Given the description of an element on the screen output the (x, y) to click on. 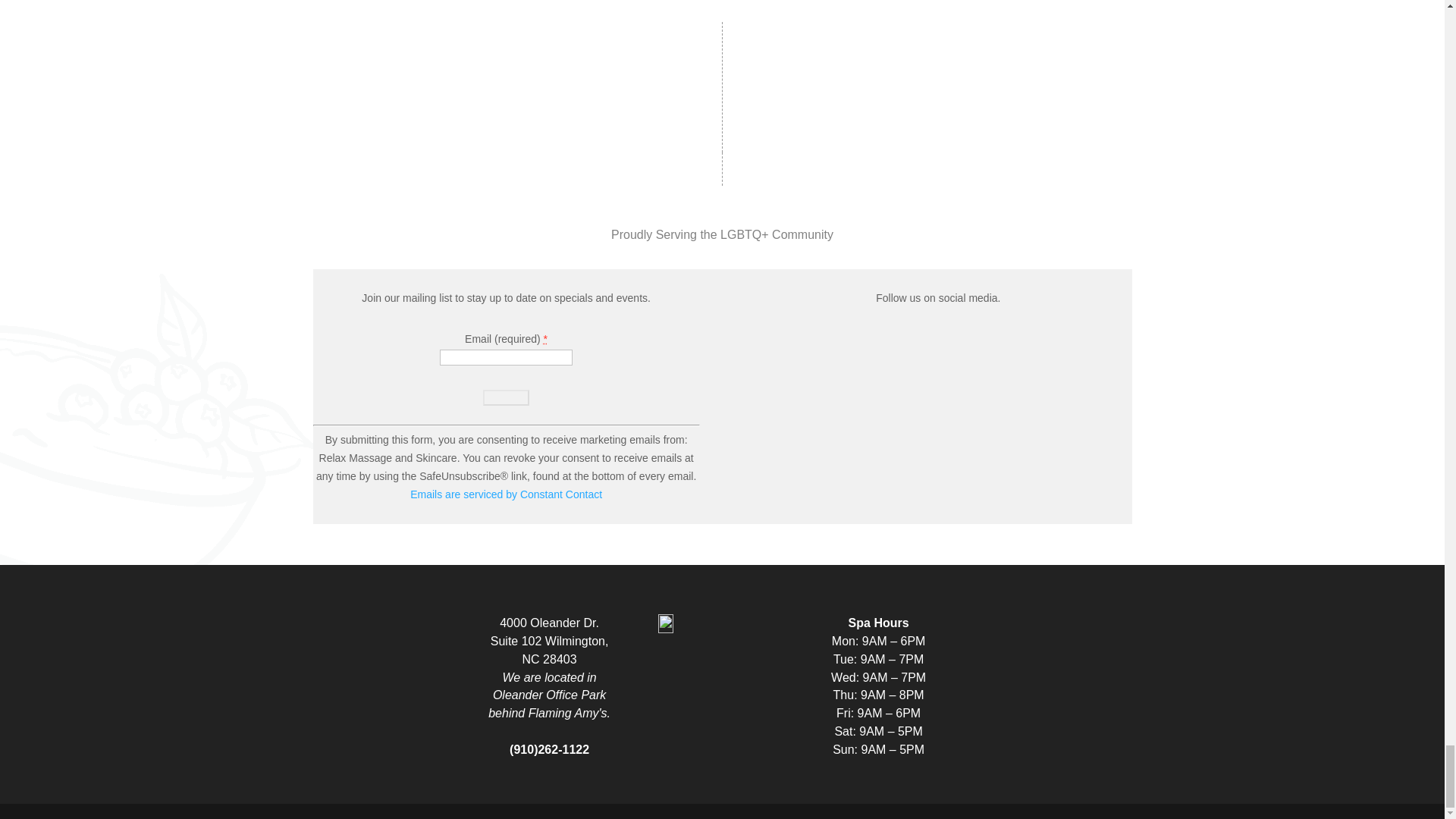
Sign up (506, 397)
